Given the description of an element on the screen output the (x, y) to click on. 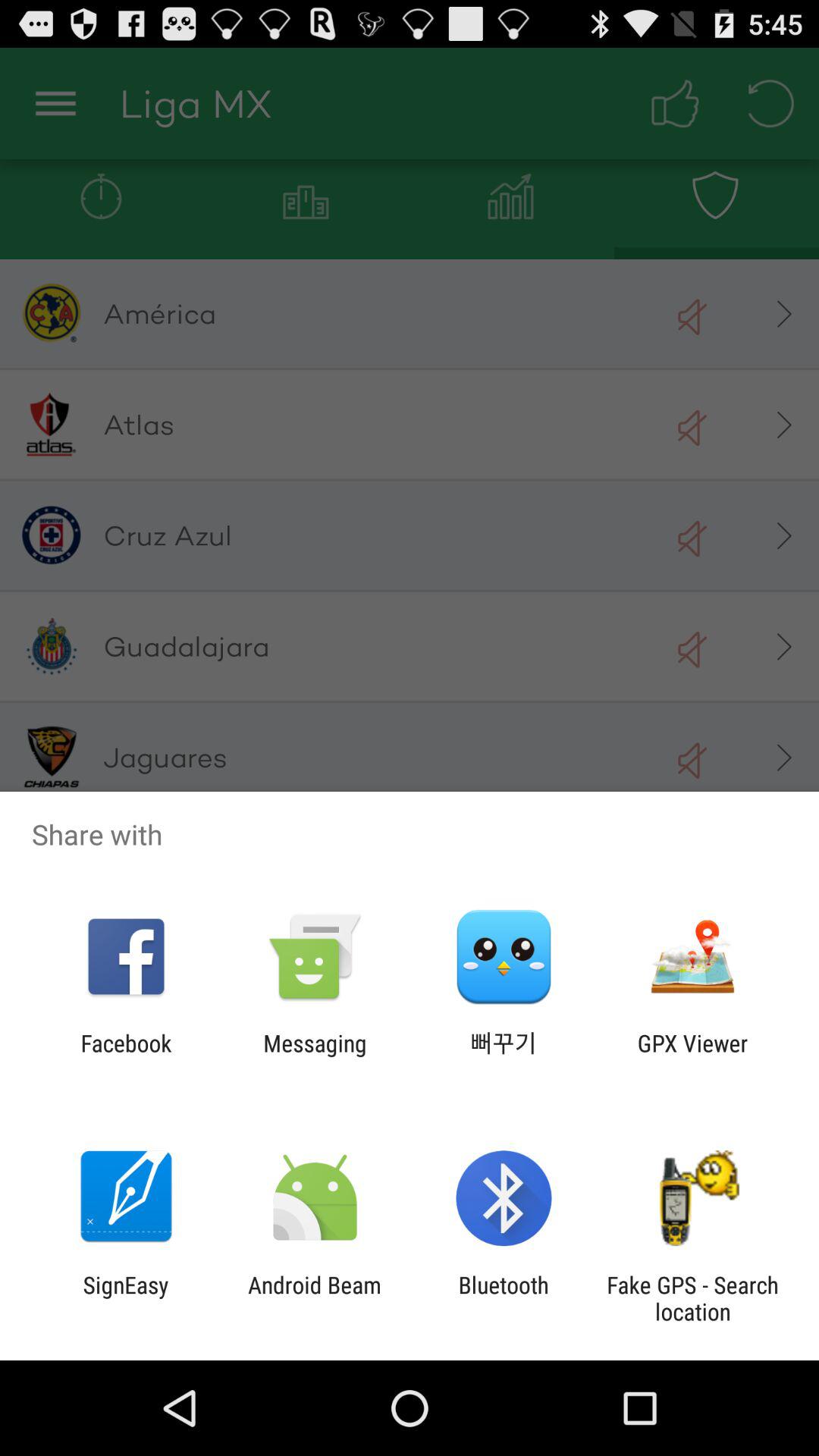
select the facebook icon (125, 1056)
